Given the description of an element on the screen output the (x, y) to click on. 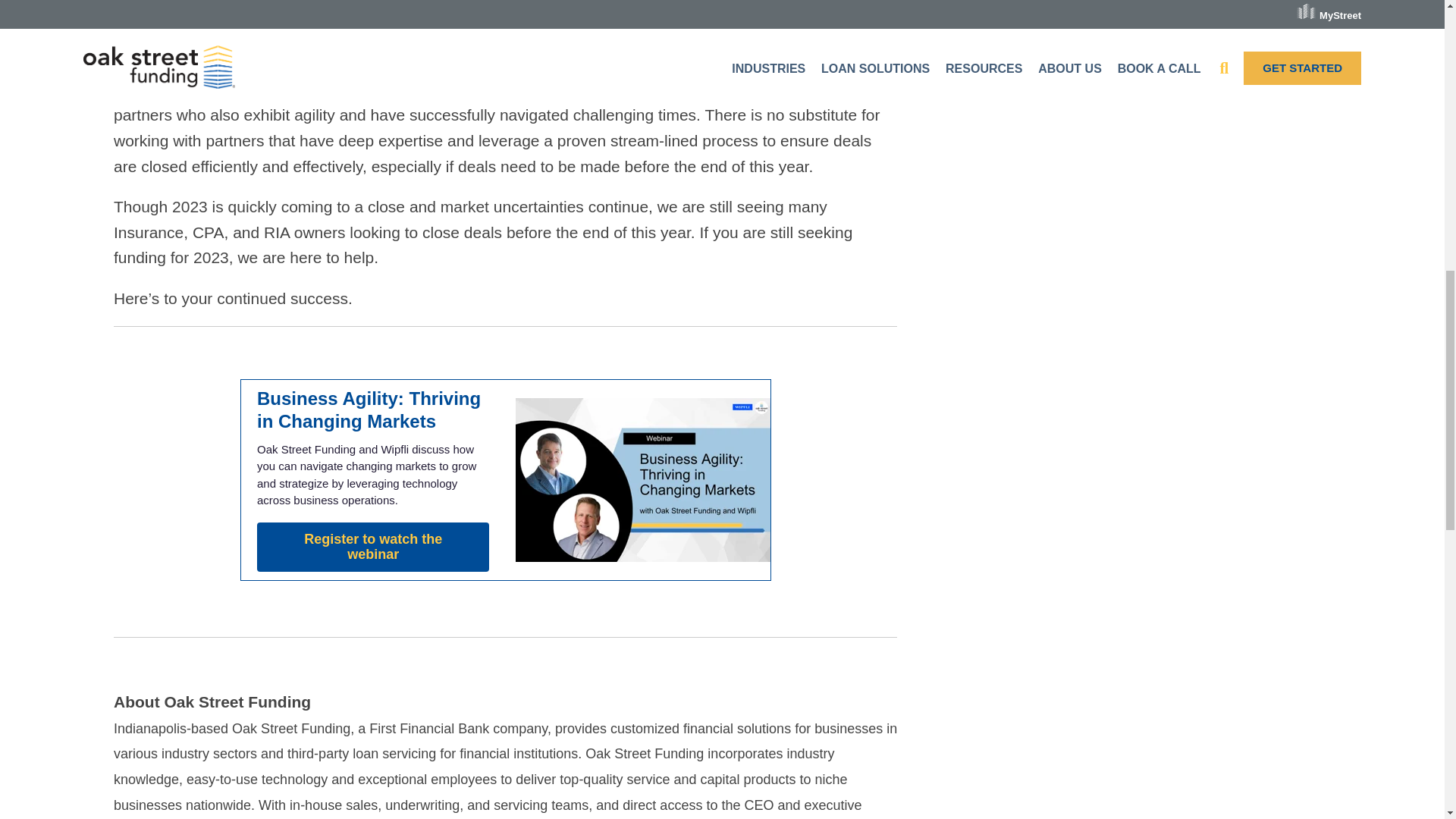
Embedded CTA (505, 479)
